Given the description of an element on the screen output the (x, y) to click on. 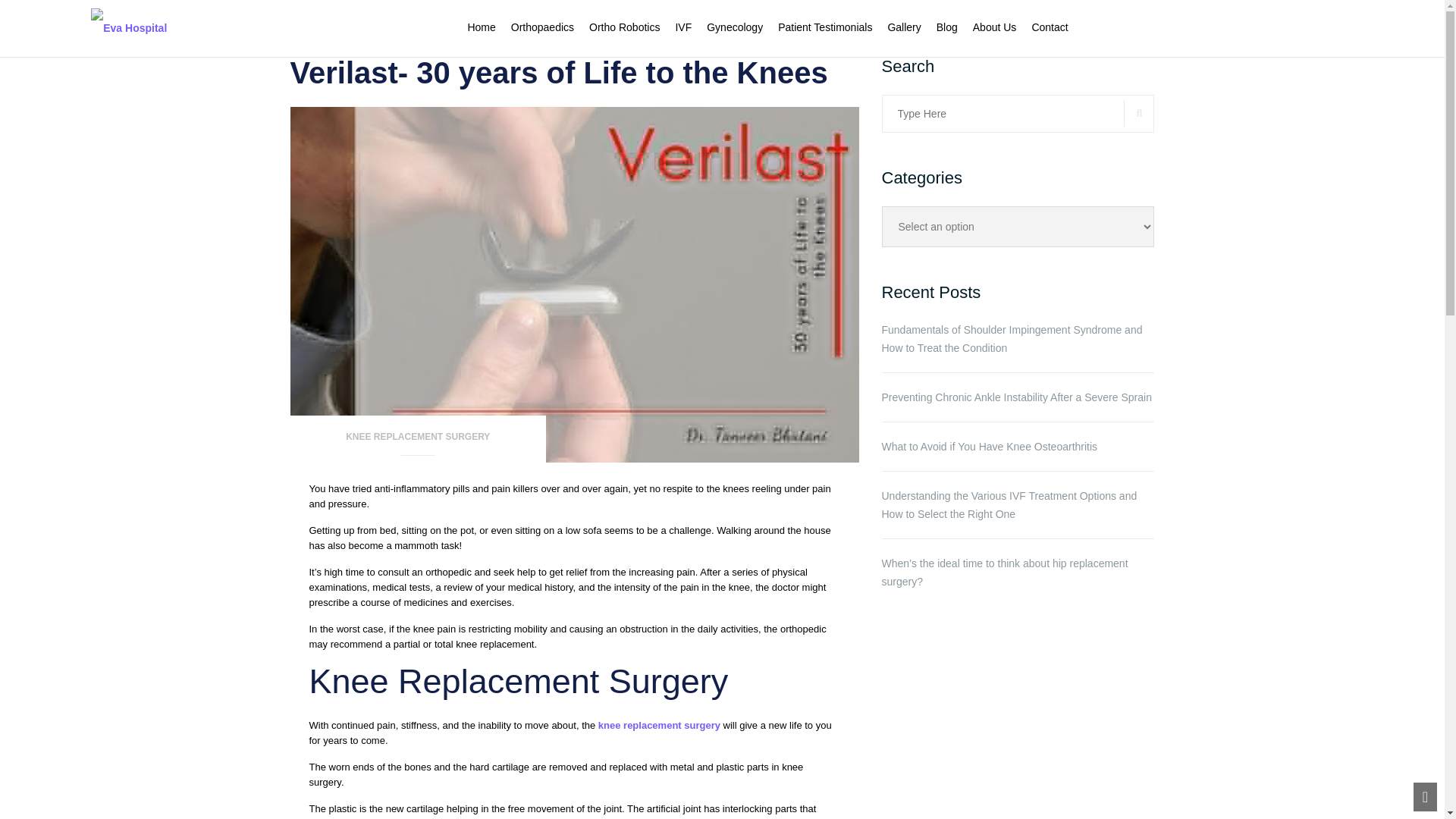
Orthopaedics (542, 28)
Orthopaedics (542, 28)
About Us (994, 28)
Patient testimonials (824, 28)
KNEE REPLACEMENT SURGERY (417, 441)
Gynecology (734, 28)
Ortho robotics (624, 28)
Ortho Robotics (624, 28)
About us (994, 28)
Eva Hospital (128, 28)
